Given the description of an element on the screen output the (x, y) to click on. 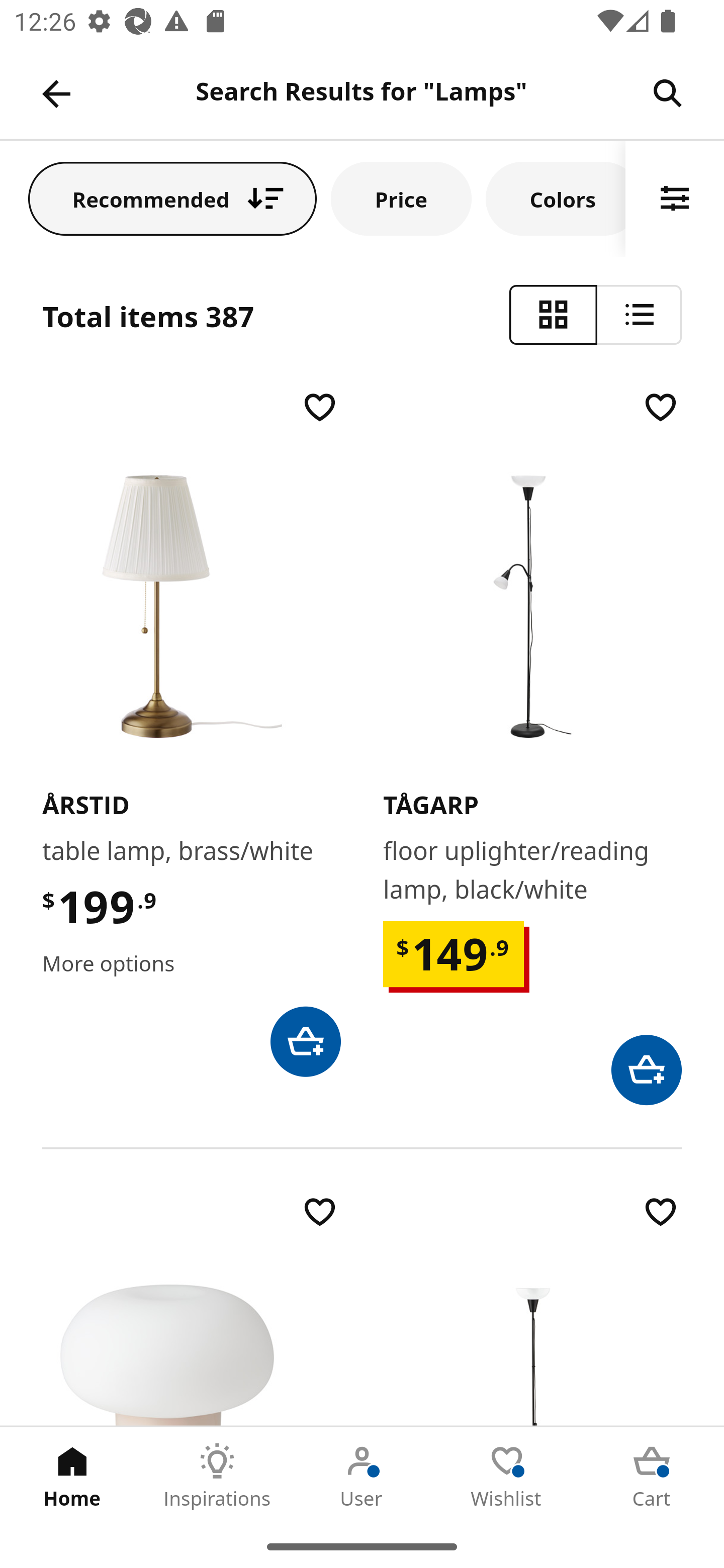
Recommended (172, 198)
Price (400, 198)
Colors (555, 198)
​T​Å​G​A​R​P​
floor uplighter, black/white
$
99
.9 (532, 1308)
Home
Tab 1 of 5 (72, 1476)
Inspirations
Tab 2 of 5 (216, 1476)
User
Tab 3 of 5 (361, 1476)
Wishlist
Tab 4 of 5 (506, 1476)
Cart
Tab 5 of 5 (651, 1476)
